Given the description of an element on the screen output the (x, y) to click on. 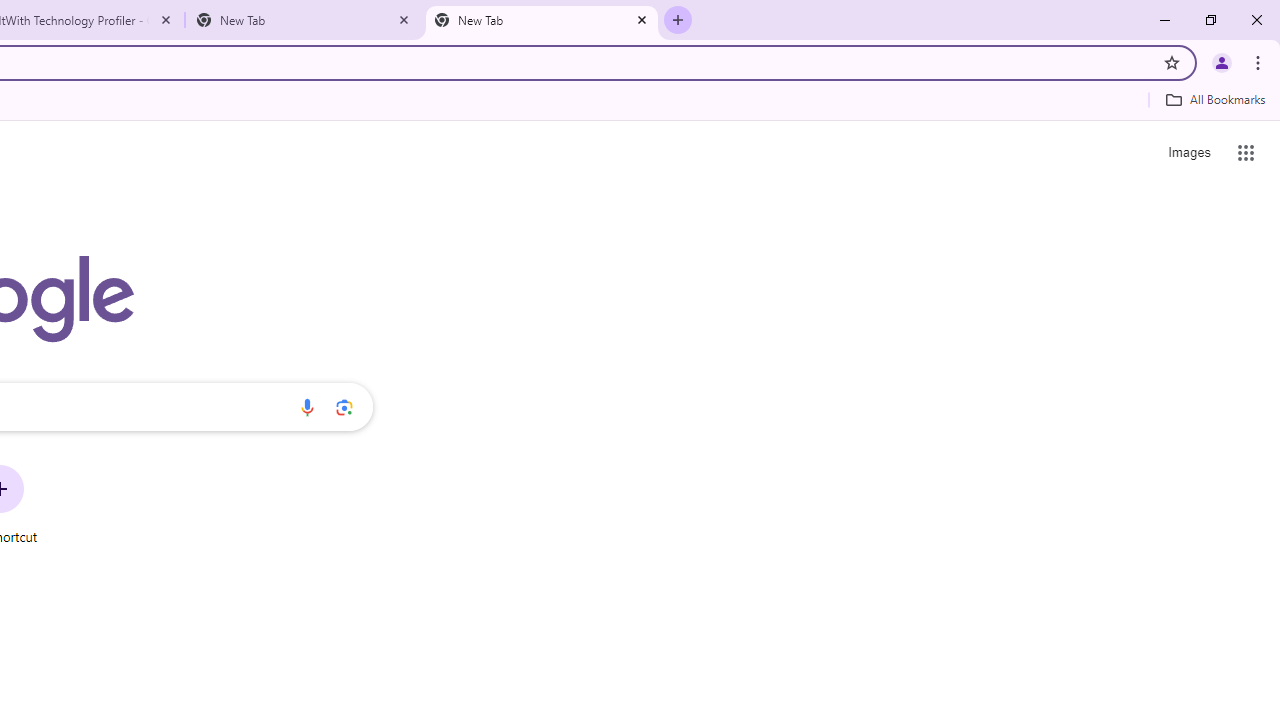
New Tab (541, 20)
New Tab (304, 20)
